Given the description of an element on the screen output the (x, y) to click on. 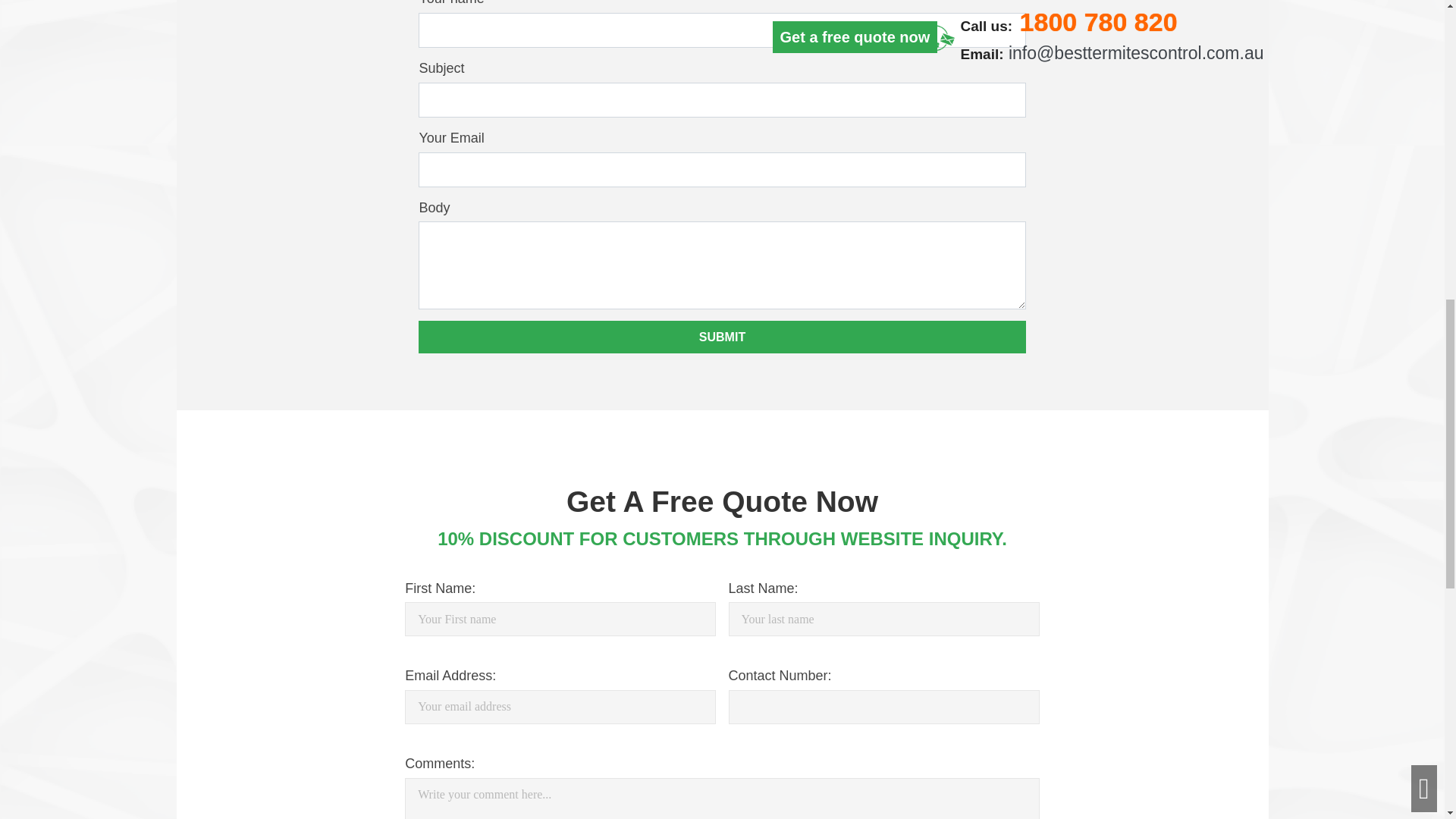
Submit (722, 337)
Submit (722, 337)
